Given the description of an element on the screen output the (x, y) to click on. 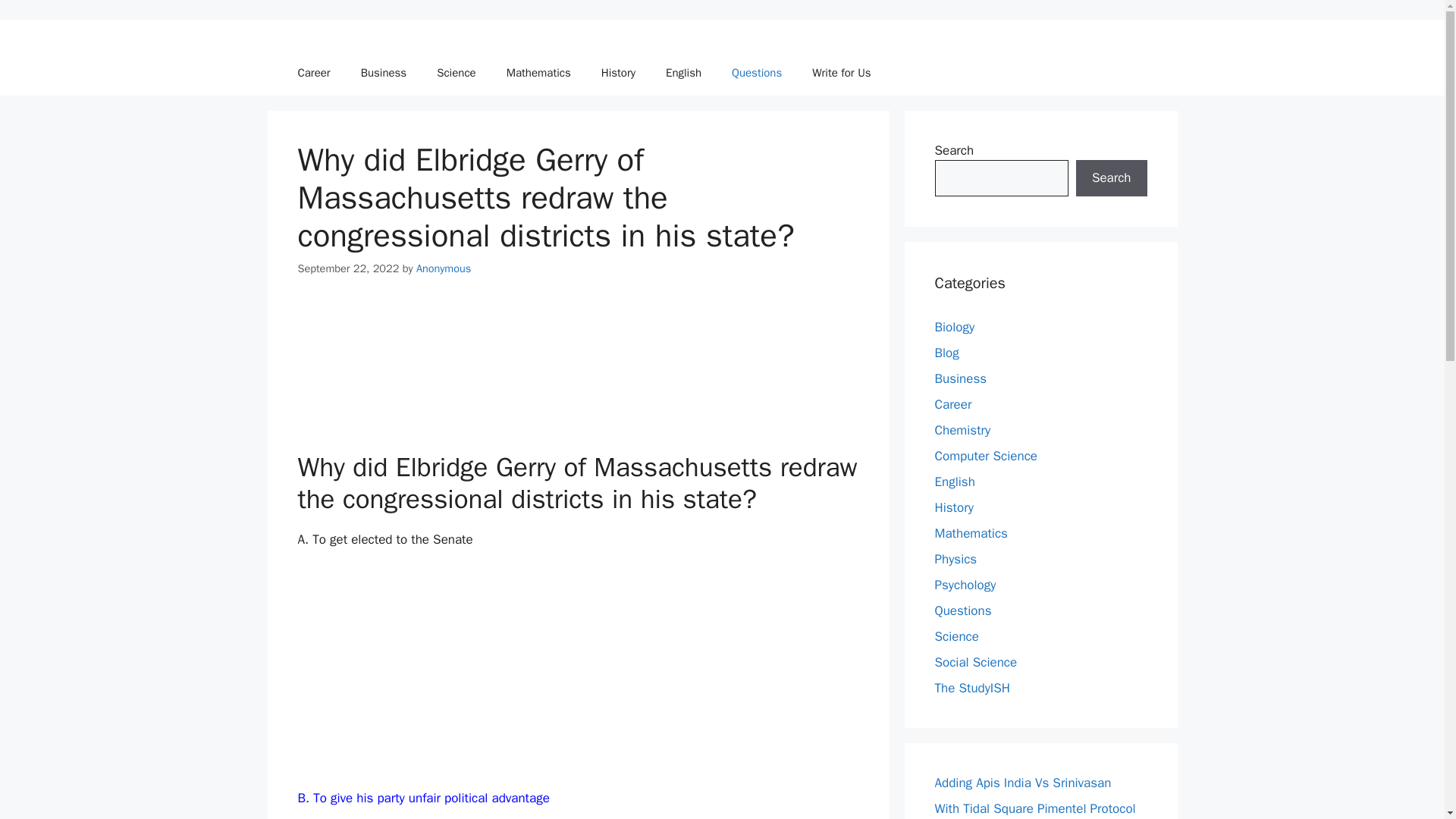
Social Science (975, 661)
Mathematics (970, 532)
Advertisement (578, 373)
English (954, 480)
Anonymous (443, 268)
Search (1111, 177)
History (953, 506)
Physics (955, 558)
Blog (946, 351)
Biology (954, 326)
